Given the description of an element on the screen output the (x, y) to click on. 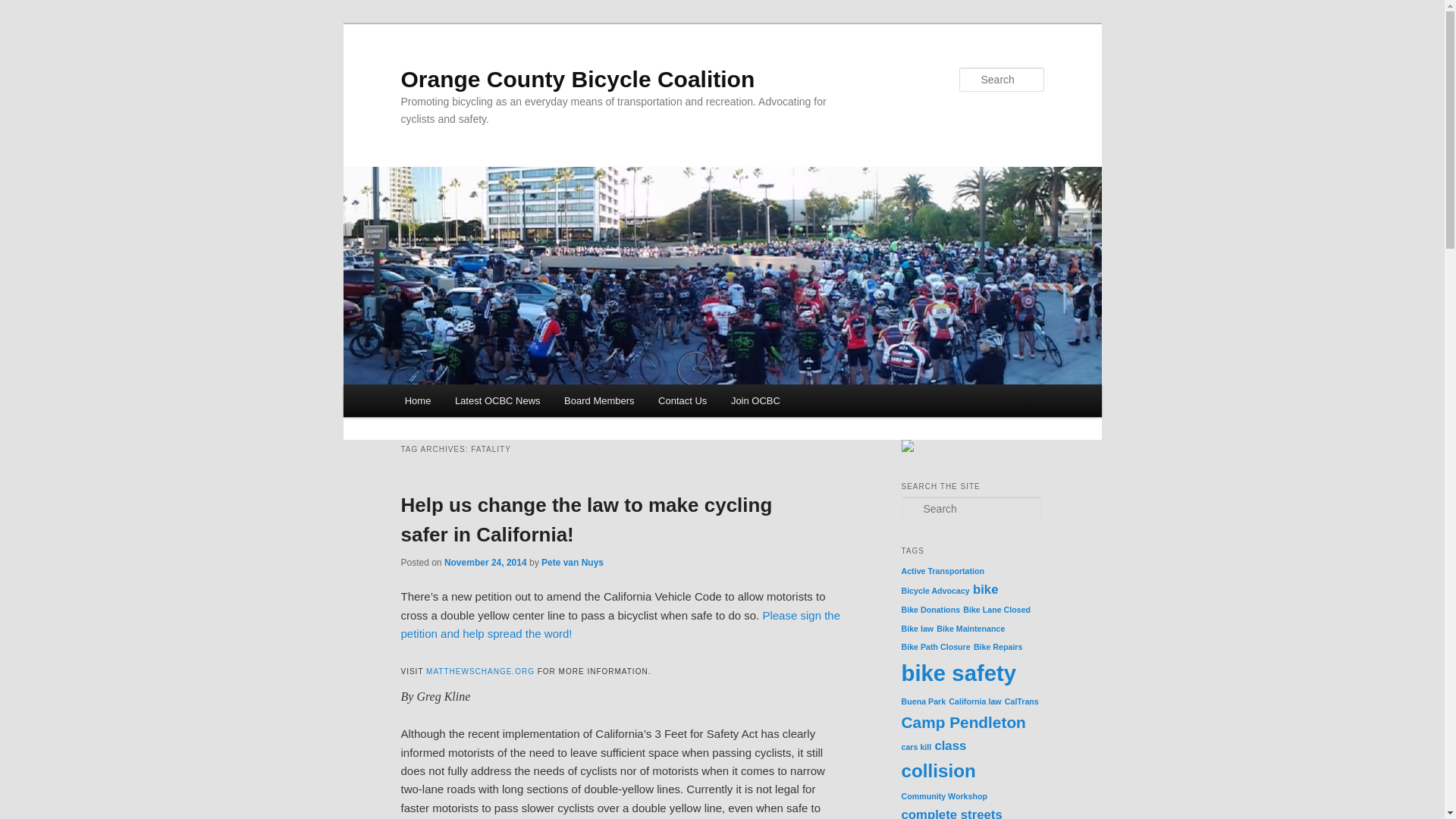
Board Members (598, 400)
Search (24, 8)
Bike Repairs (998, 646)
November 24, 2014 (485, 562)
Bike law (917, 628)
Latest OCBC News (496, 400)
bike (985, 589)
Home (417, 400)
Support safer bicycling in Orange County California (755, 400)
Buena Park (922, 700)
